Given the description of an element on the screen output the (x, y) to click on. 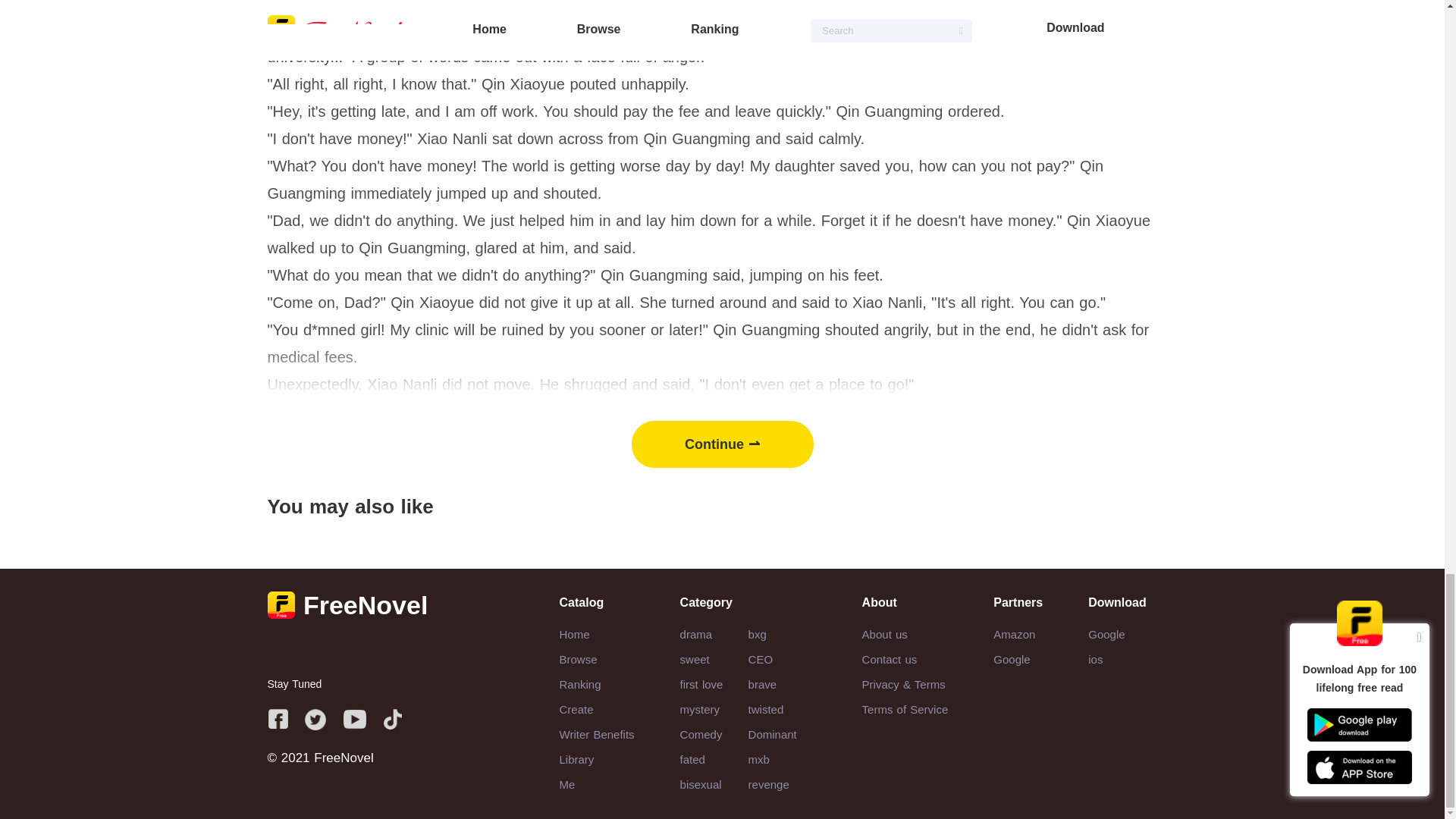
CEO (760, 658)
brave (762, 684)
Browse (577, 658)
bxg (757, 634)
Ranking (580, 684)
Home (574, 634)
drama (696, 634)
Me (567, 784)
first love (701, 684)
Home (574, 634)
